Given the description of an element on the screen output the (x, y) to click on. 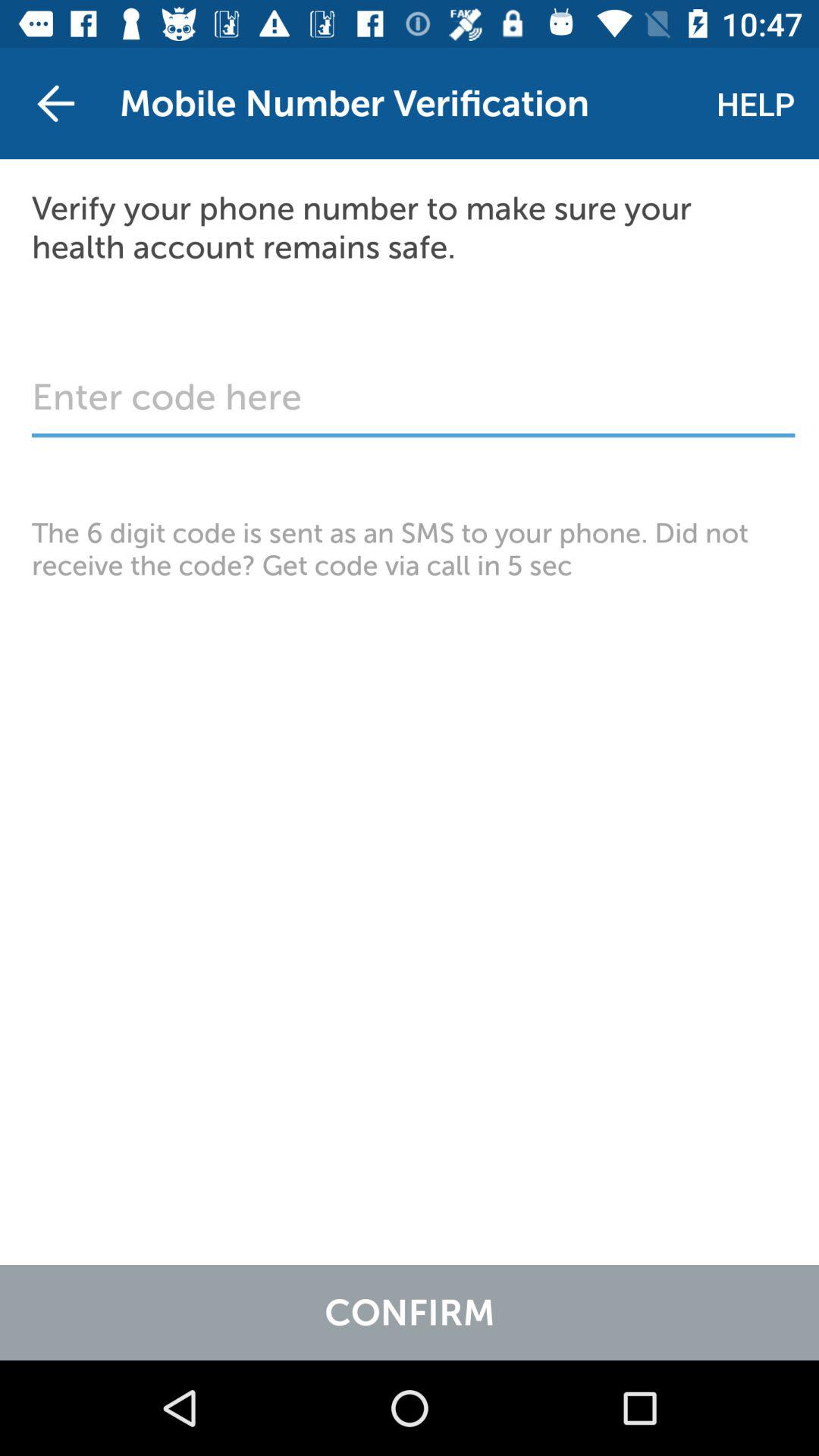
turn on icon at the center (409, 549)
